Given the description of an element on the screen output the (x, y) to click on. 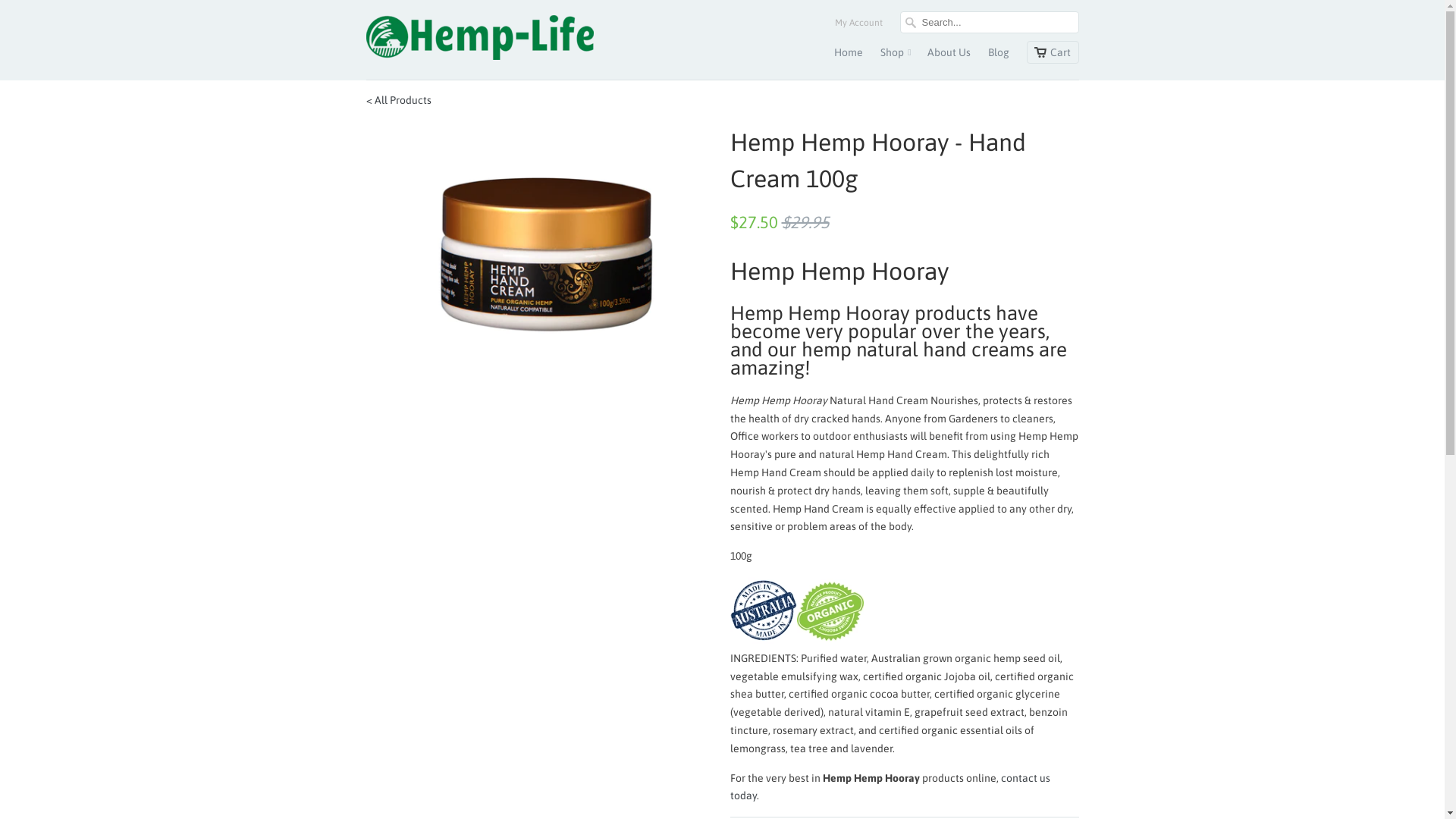
My Account Element type: text (857, 26)
Hemp Hemp Hooray - Hand Cream 100g Element type: hover (539, 240)
Cart Element type: text (1052, 51)
Home Element type: text (848, 55)
contact us today Element type: text (889, 786)
Hemp-Life Element type: hover (479, 39)
< All Products Element type: text (397, 100)
Blog Element type: text (997, 55)
About Us Element type: text (947, 55)
